Given the description of an element on the screen output the (x, y) to click on. 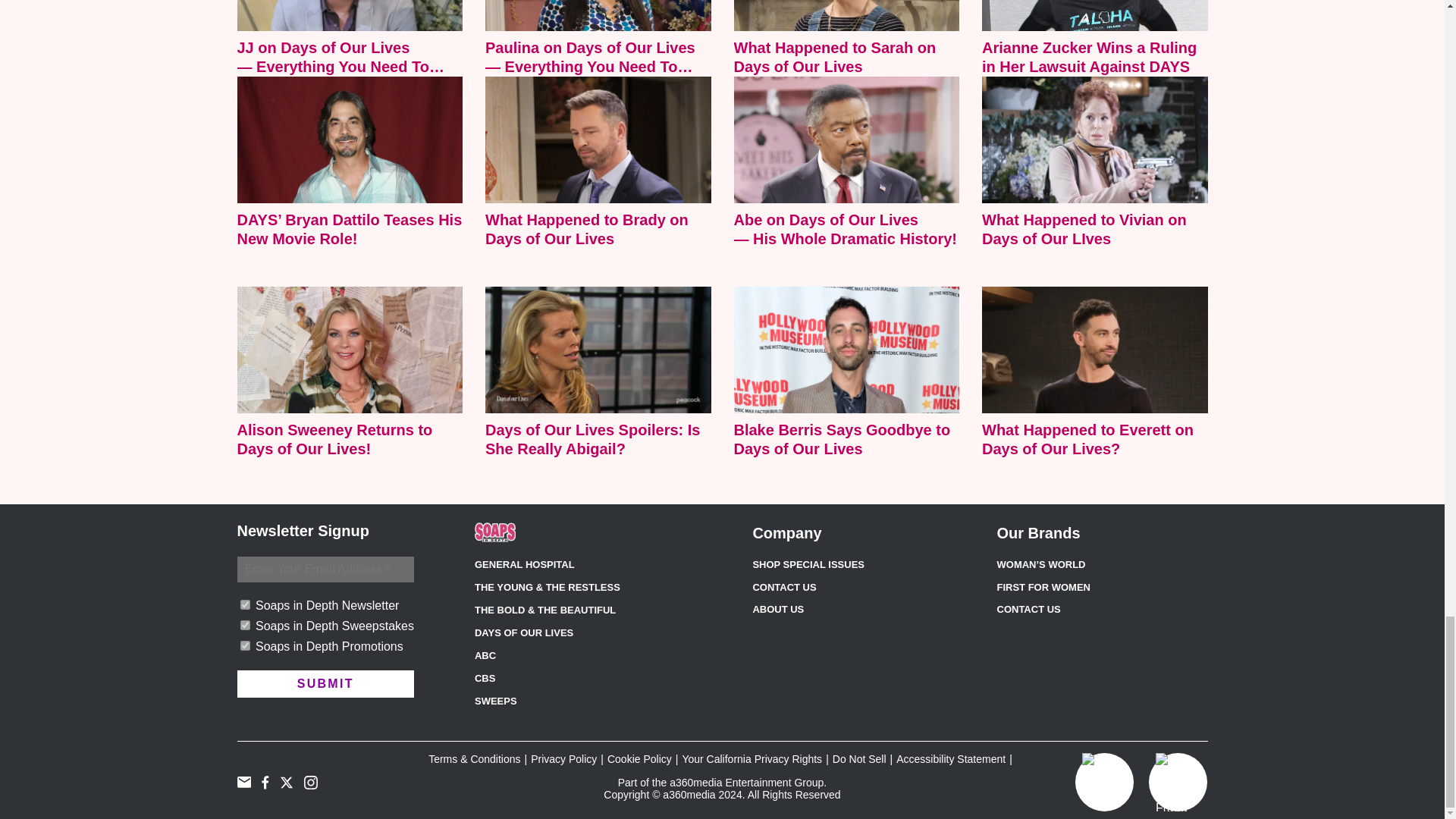
1 (244, 624)
1 (244, 645)
1 (244, 604)
